Given the description of an element on the screen output the (x, y) to click on. 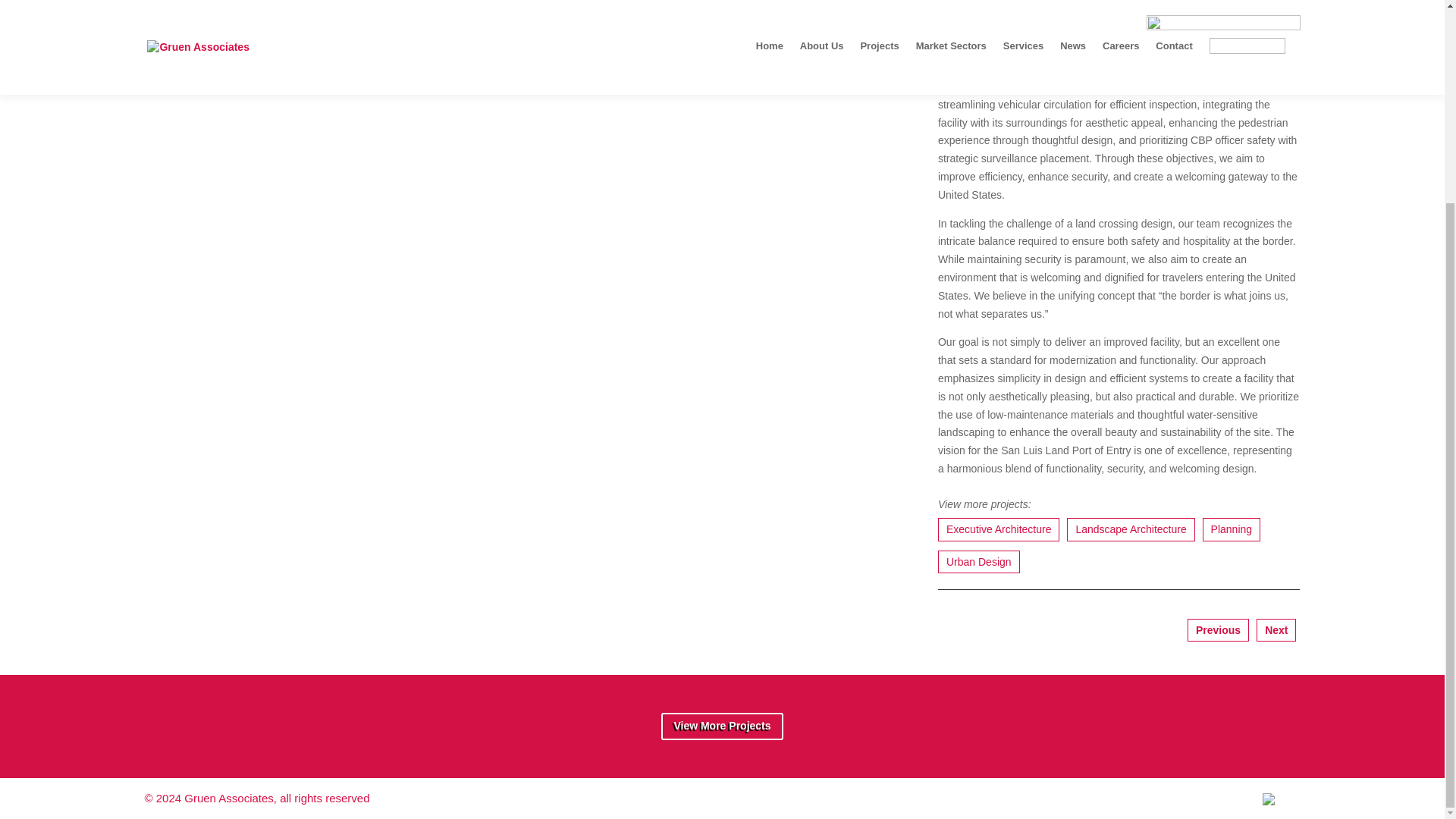
View More Projects (722, 726)
Executive Architecture (998, 528)
Landscape Architecture (1130, 528)
SLLPOE 04 (523, 256)
Planning (1231, 528)
Next (1276, 630)
Urban Design (978, 561)
Previous (1217, 630)
